Given the description of an element on the screen output the (x, y) to click on. 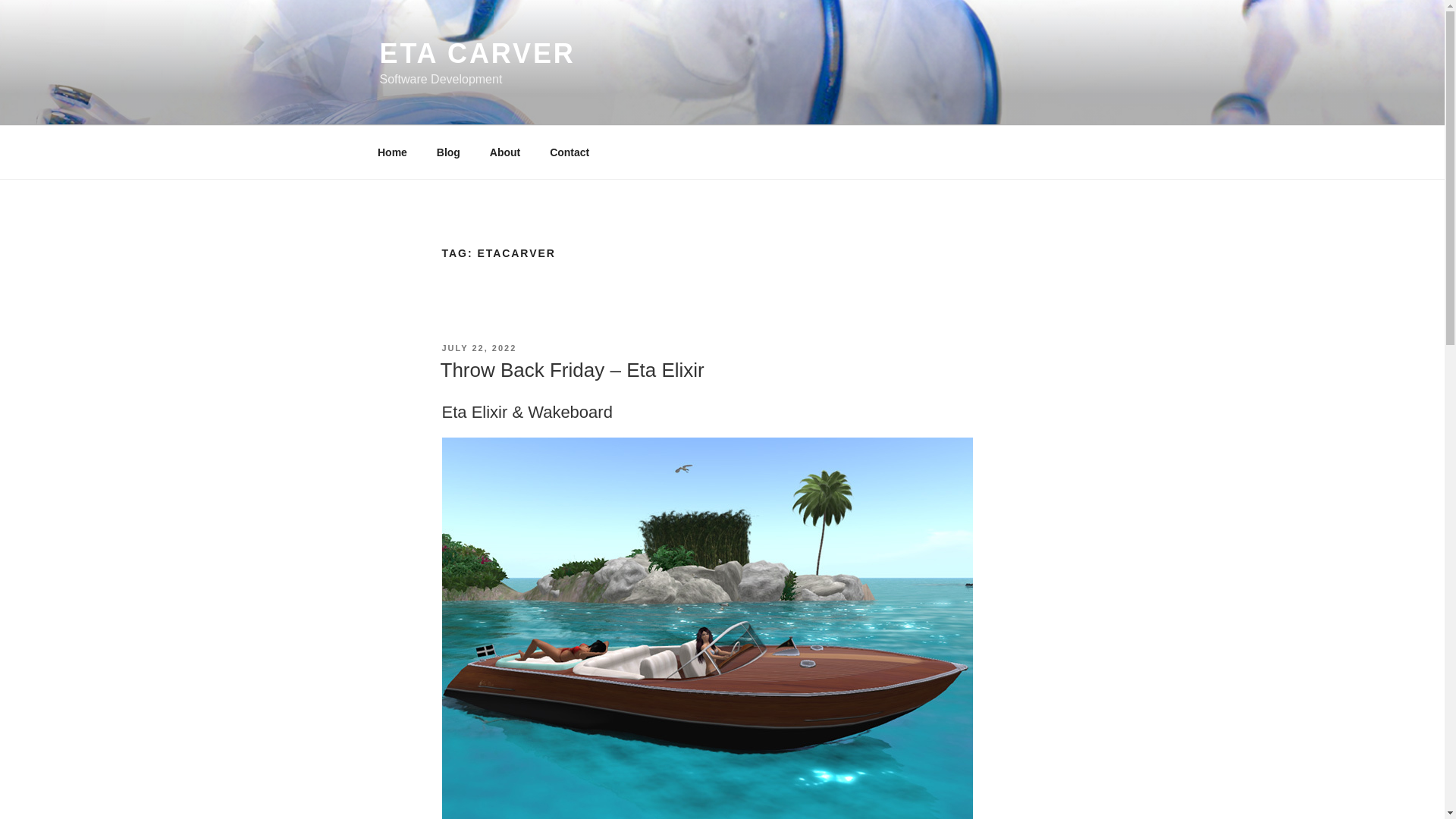
ETA CARVER (476, 52)
Home (392, 151)
JULY 22, 2022 (478, 347)
Contact (569, 151)
About (504, 151)
Blog (448, 151)
